Given the description of an element on the screen output the (x, y) to click on. 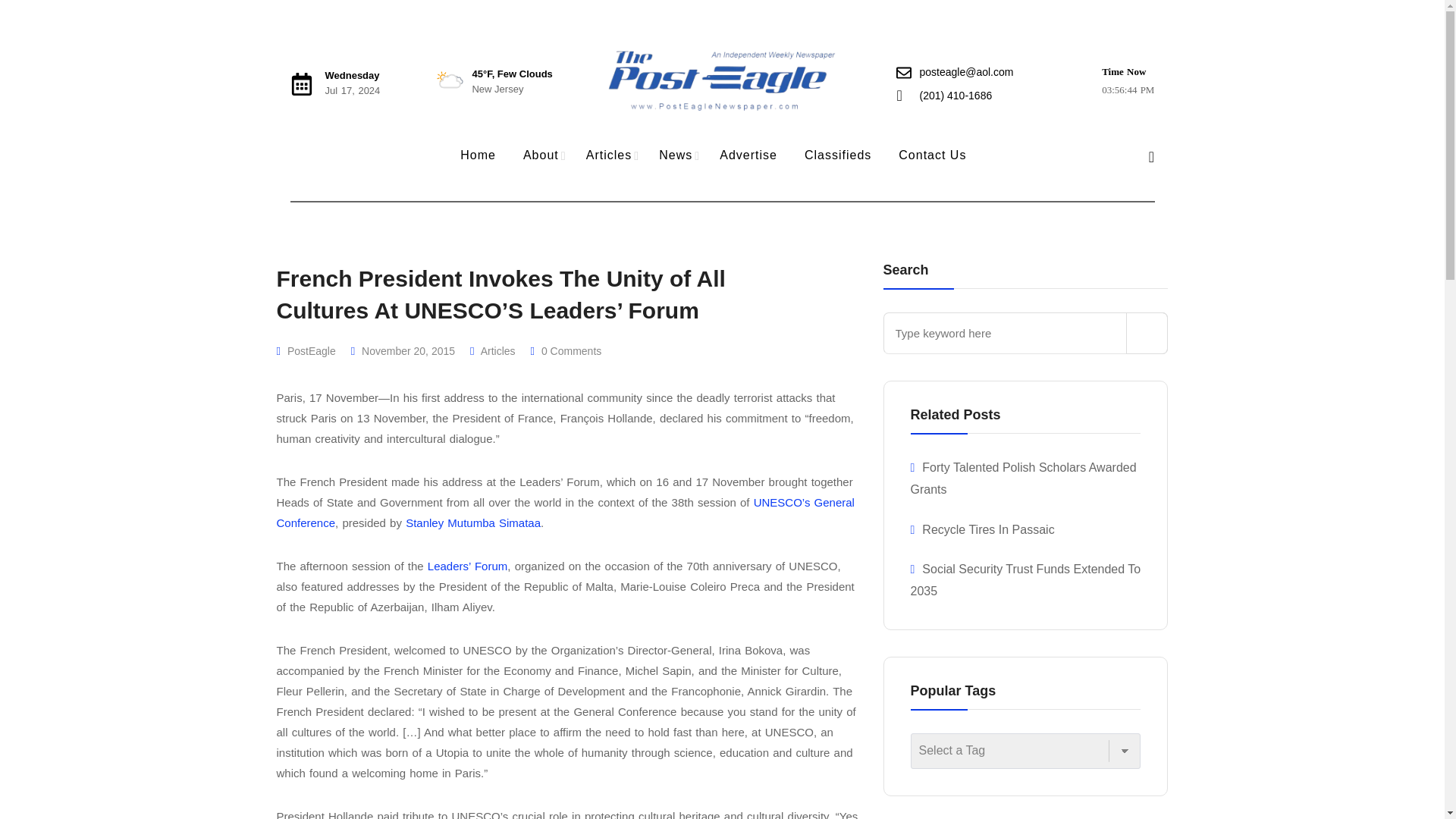
News (675, 155)
Home (477, 155)
Classifieds (837, 155)
Posts by PostEagle (311, 350)
Articles (608, 155)
Contact Us (932, 155)
About (540, 155)
Advertise (748, 155)
